Given the description of an element on the screen output the (x, y) to click on. 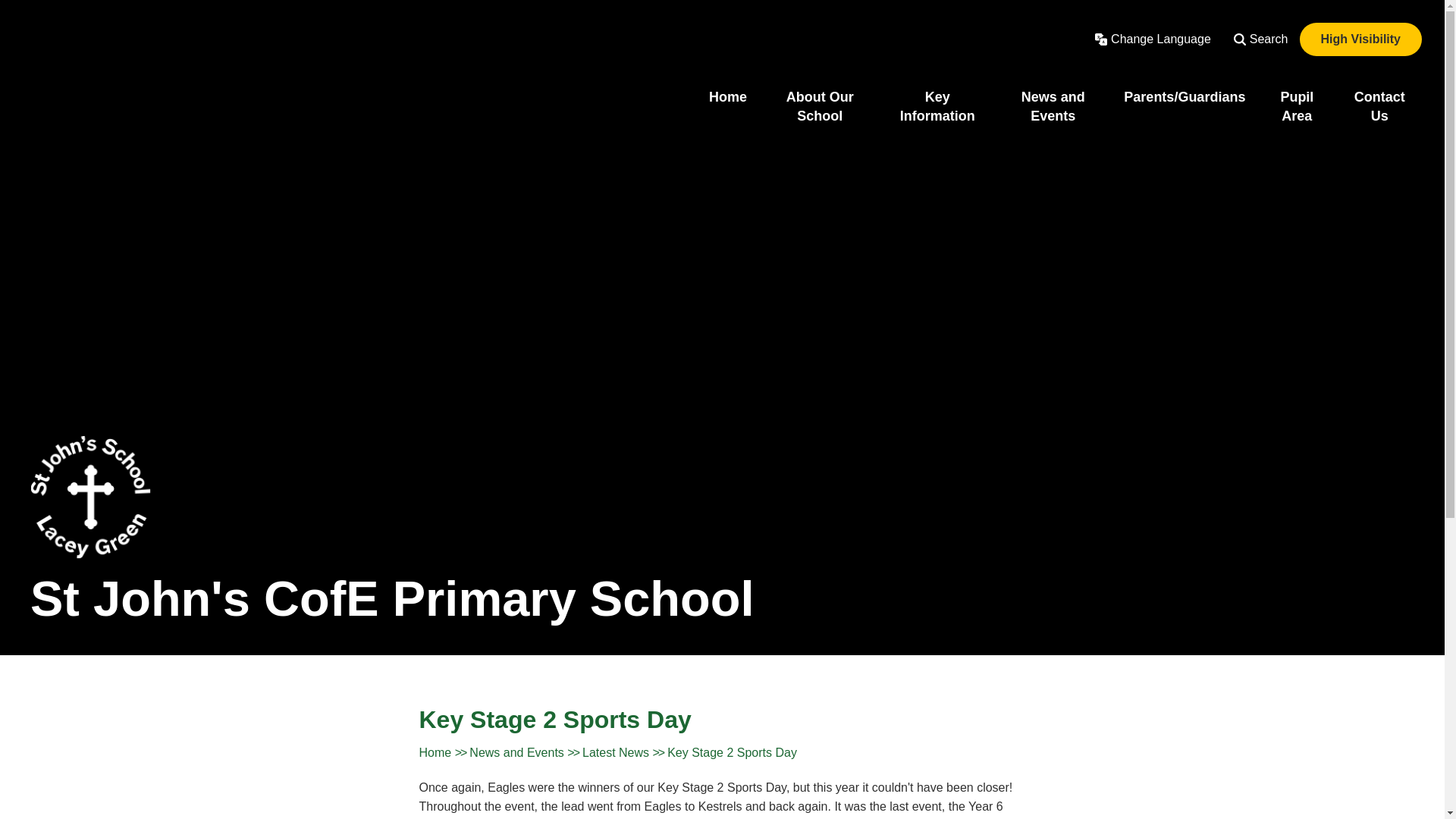
Home Page (91, 497)
About Our School (819, 106)
High Visibility (1361, 39)
Change Language (1153, 39)
Key Information (936, 106)
Home (727, 97)
Search (1261, 39)
